Given the description of an element on the screen output the (x, y) to click on. 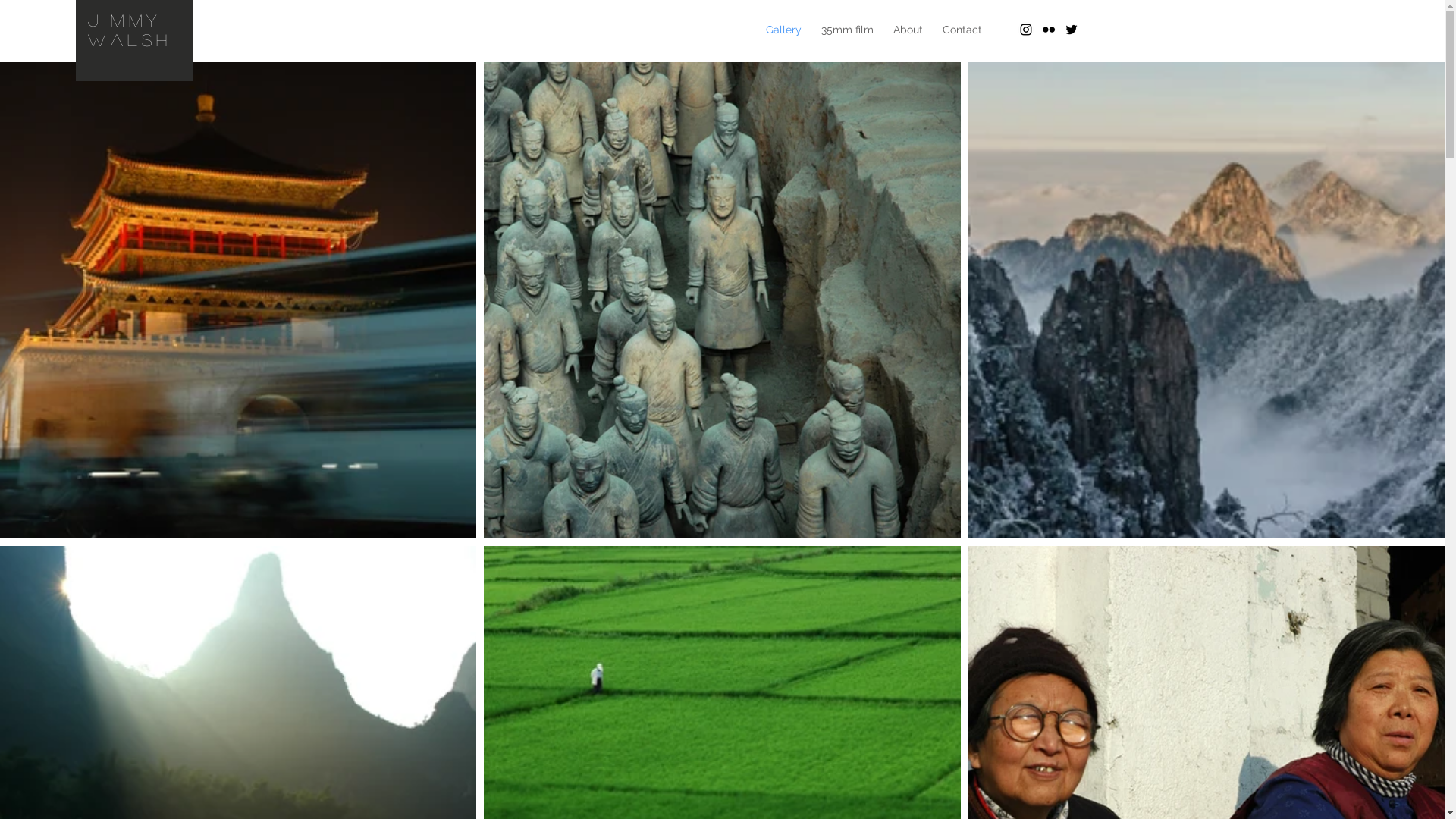
Contact Element type: text (961, 29)
About Element type: text (906, 29)
Walsh Element type: text (129, 39)
Jimmy Element type: text (124, 19)
35mm film Element type: text (847, 29)
Gallery Element type: text (782, 29)
